Given the description of an element on the screen output the (x, y) to click on. 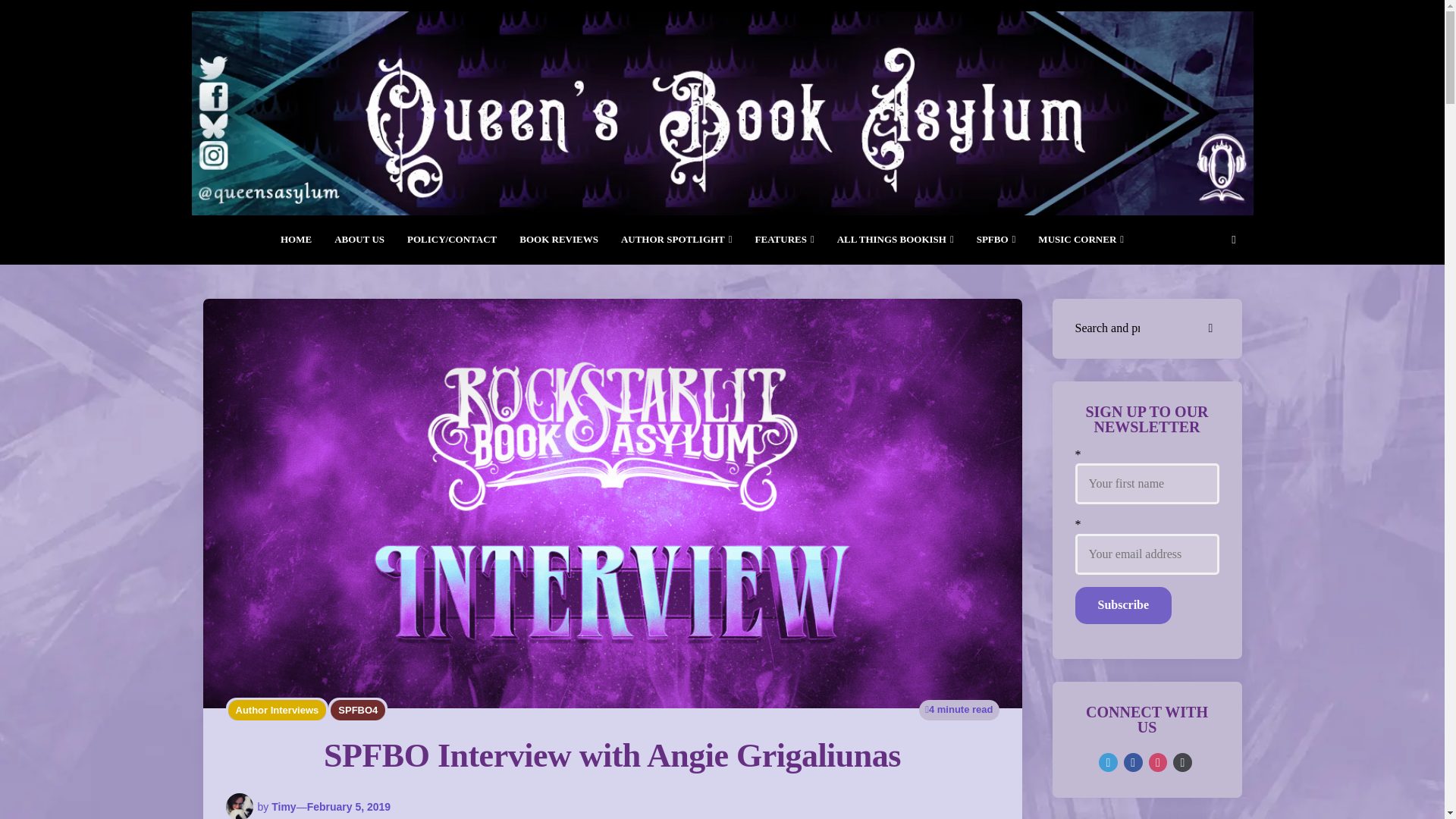
AUTHOR SPOTLIGHT (677, 239)
HOME (296, 239)
ALL THINGS BOOKISH (895, 239)
BOOK REVIEWS (559, 239)
ABOUT US (359, 239)
SPFBO (996, 239)
FEATURES (784, 239)
Subscribe (1123, 605)
